Given the description of an element on the screen output the (x, y) to click on. 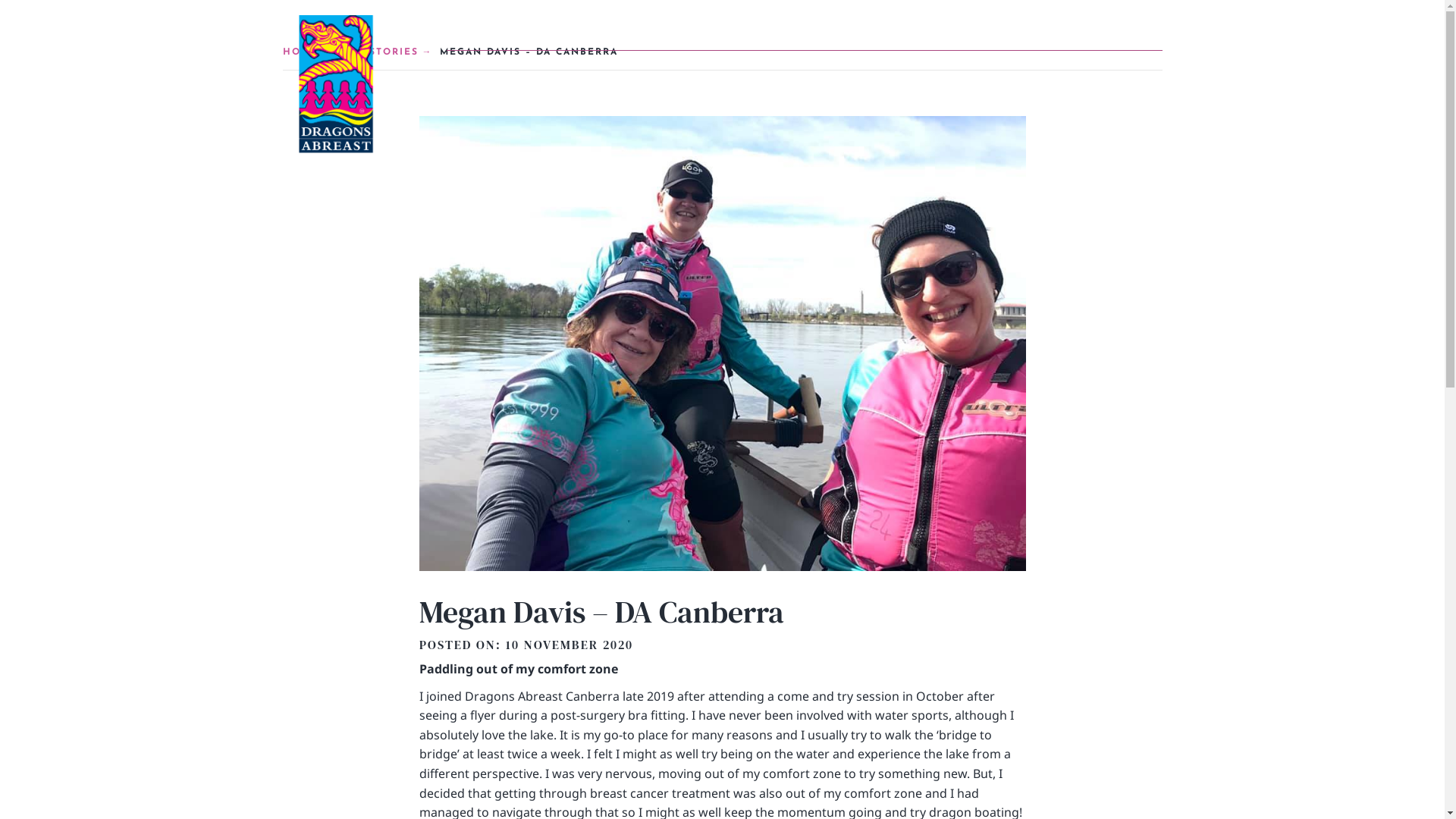
OUR STORIES Element type: text (386, 52)
Dragons_Abreast_logo_tagline_CMYK Element type: hover (335, 96)
Alliances Element type: text (1022, 31)
News Element type: text (840, 31)
HOME Element type: text (307, 52)
Group Locations Element type: text (925, 31)
Events Element type: text (783, 31)
Home Element type: text (651, 31)
Contact Element type: text (1139, 31)
FAQs Element type: text (1085, 31)
About Us Element type: text (716, 31)
